Given the description of an element on the screen output the (x, y) to click on. 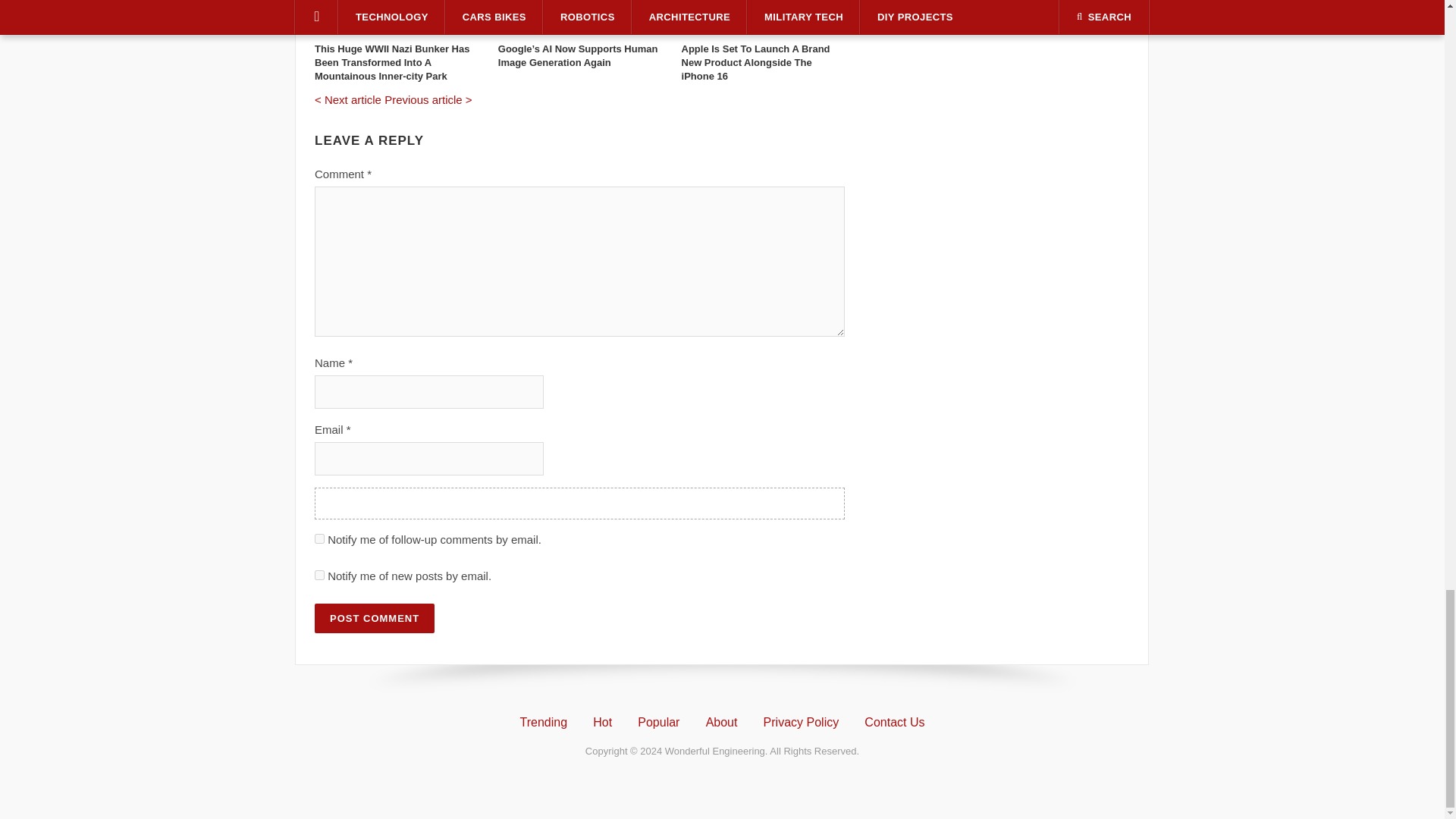
subscribe (319, 538)
subscribe (319, 574)
Post Comment (373, 618)
